Given the description of an element on the screen output the (x, y) to click on. 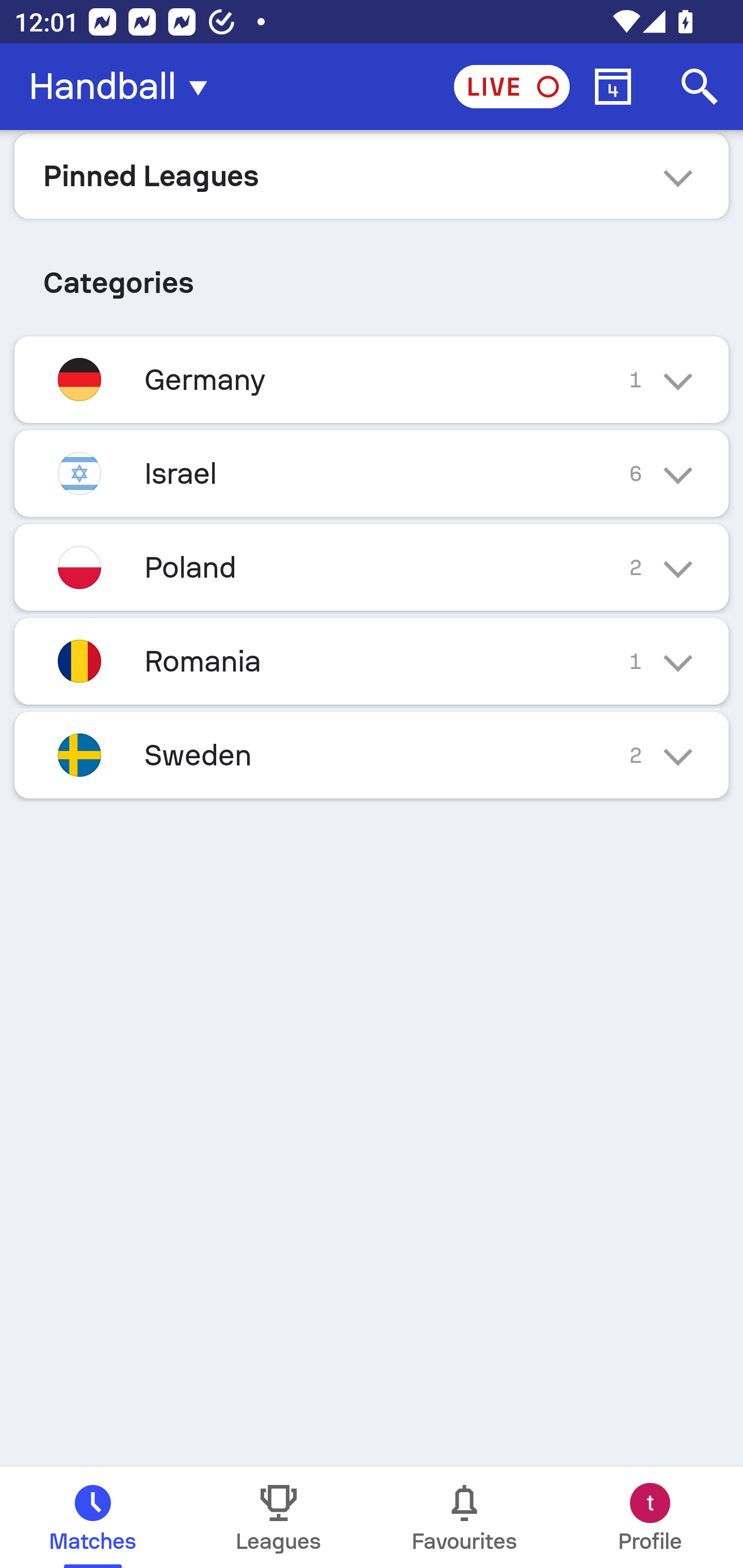
Handball (124, 86)
Calendar (612, 86)
Search (699, 86)
Pinned Leagues (371, 175)
Categories (371, 275)
Germany 1 (371, 379)
Israel 6 (371, 473)
Poland 2 (371, 566)
Romania 1 (371, 660)
Sweden 2 (371, 754)
Leagues (278, 1517)
Favourites (464, 1517)
Profile (650, 1517)
